Given the description of an element on the screen output the (x, y) to click on. 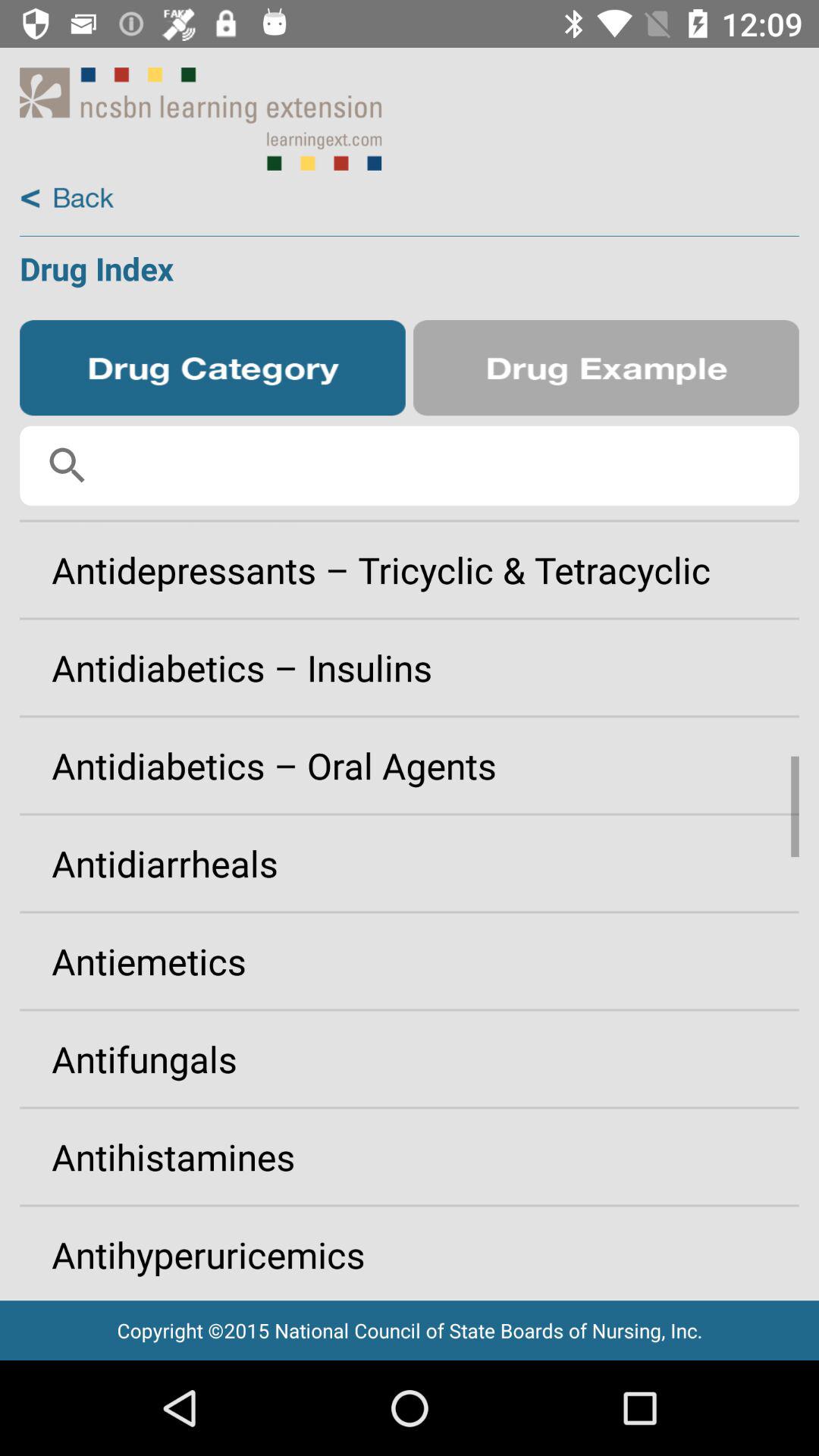
its a drug category (212, 367)
